Given the description of an element on the screen output the (x, y) to click on. 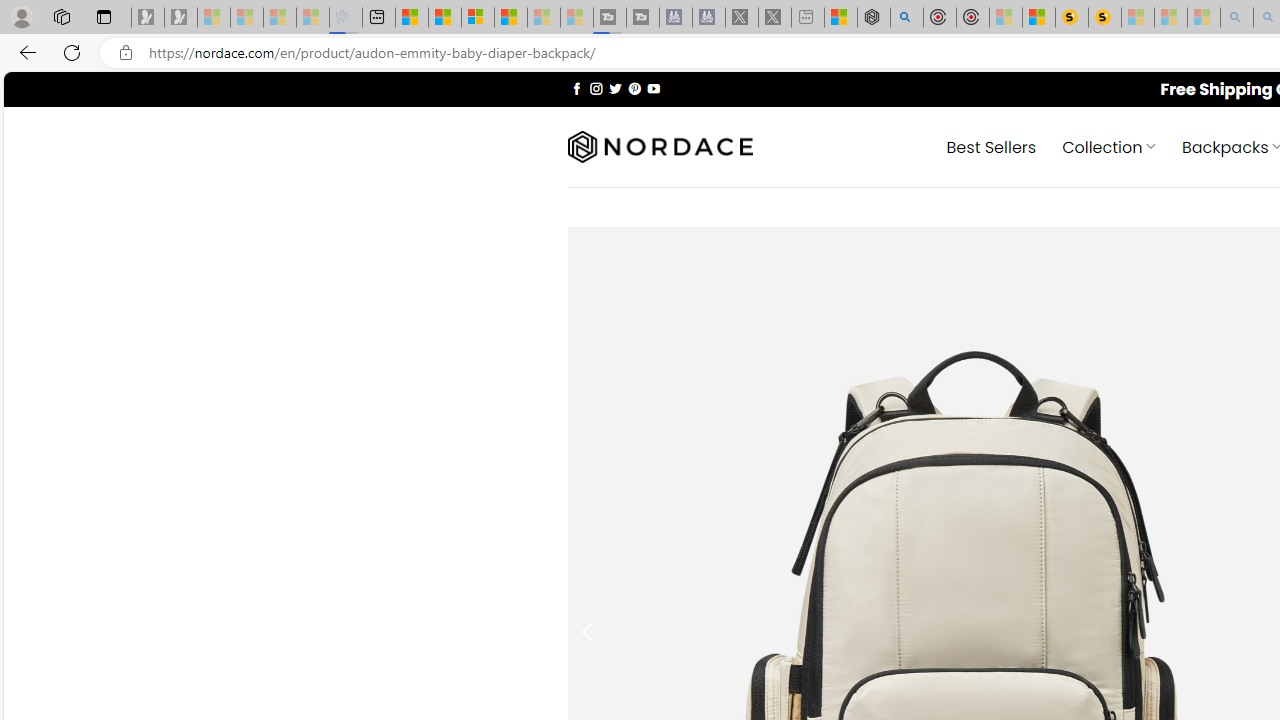
Follow on Facebook (576, 88)
 Best Sellers (990, 146)
